Given the description of an element on the screen output the (x, y) to click on. 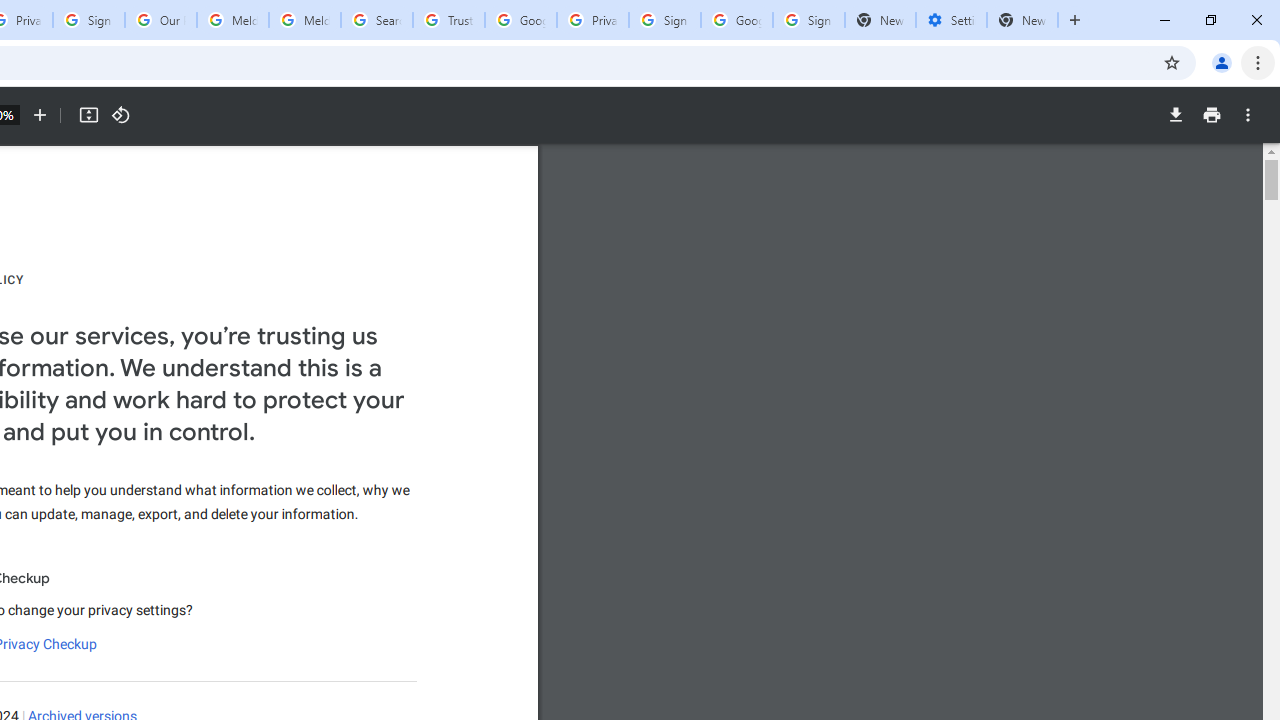
Google Cybersecurity Innovations - Google Safety Center (737, 20)
Settings - Addresses and more (951, 20)
Search our Doodle Library Collection - Google Doodles (376, 20)
Zoom in (39, 115)
New Tab (1022, 20)
Google Ads - Sign in (520, 20)
